Given the description of an element on the screen output the (x, y) to click on. 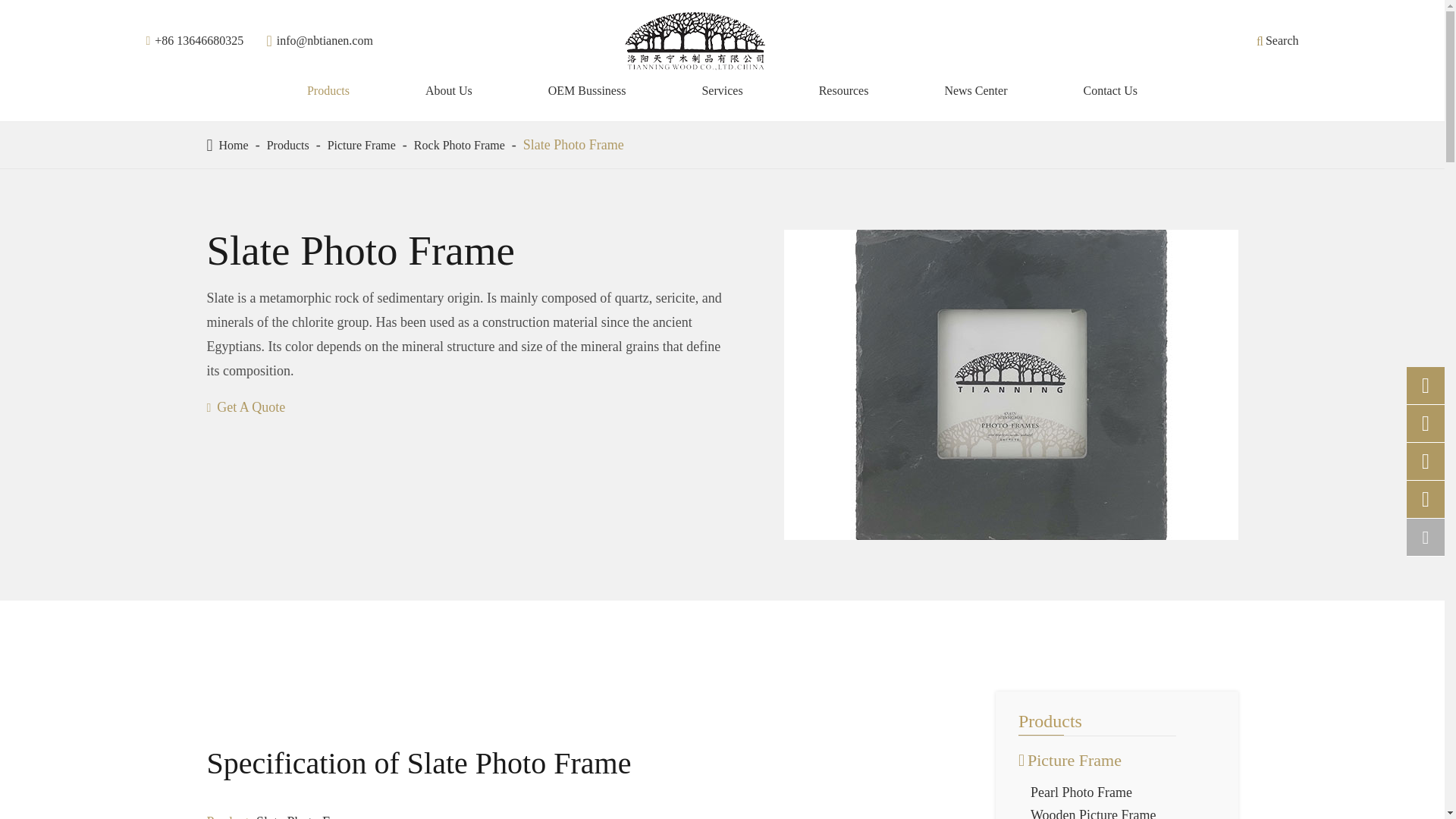
Products (328, 90)
Slate Photo Frame (573, 144)
About Us (448, 90)
Picture Frame (361, 144)
Luoyang Tianning Wood Co., Ltd. (694, 41)
Products (287, 144)
Rock Photo Frame (459, 144)
